Given the description of an element on the screen output the (x, y) to click on. 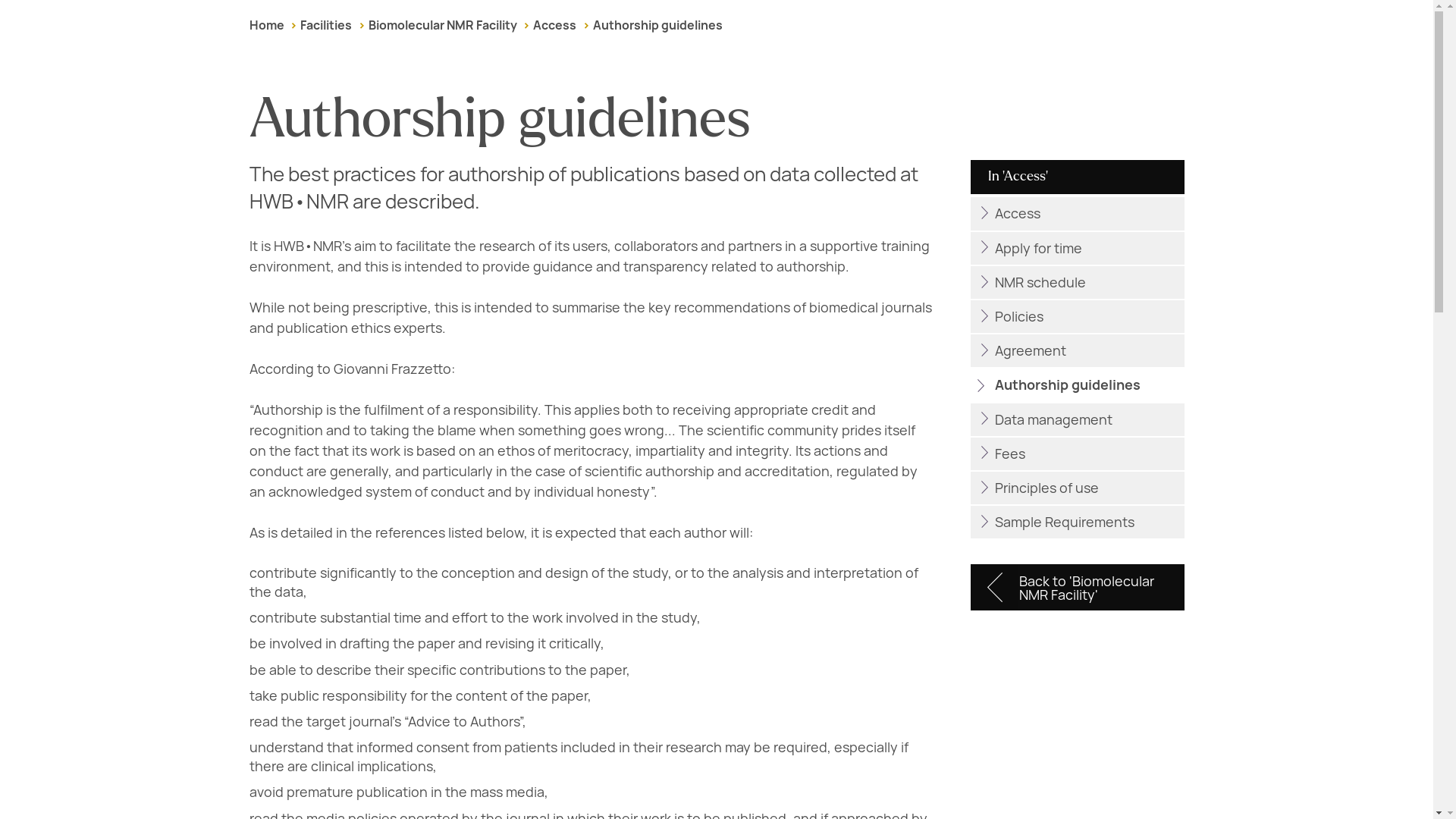
Authorship guidelines (657, 25)
Authorship guidelines (1077, 384)
Sample Requirements (1077, 522)
Home (265, 25)
Back to 'Biomolecular NMR Facility' (1077, 587)
Access (1077, 213)
Agreement (1077, 350)
Facilities (325, 25)
Principles of use (1077, 487)
Biomolecular NMR Facility (442, 25)
NMR schedule (1077, 282)
Access (554, 25)
Policies (1077, 316)
Data management (1077, 419)
Apply for time (1077, 247)
